Given the description of an element on the screen output the (x, y) to click on. 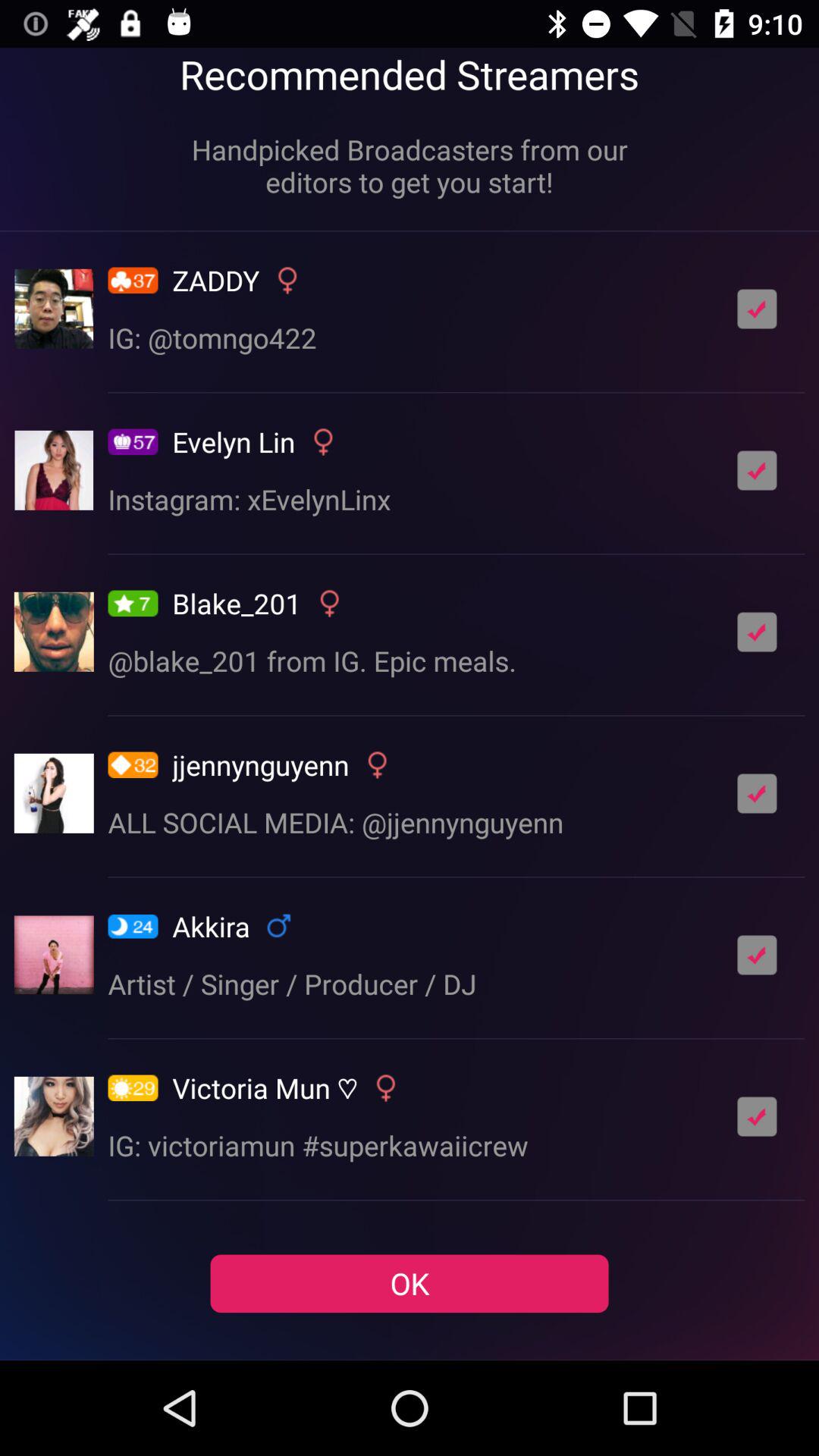
toggle streamer feed (756, 308)
